Given the description of an element on the screen output the (x, y) to click on. 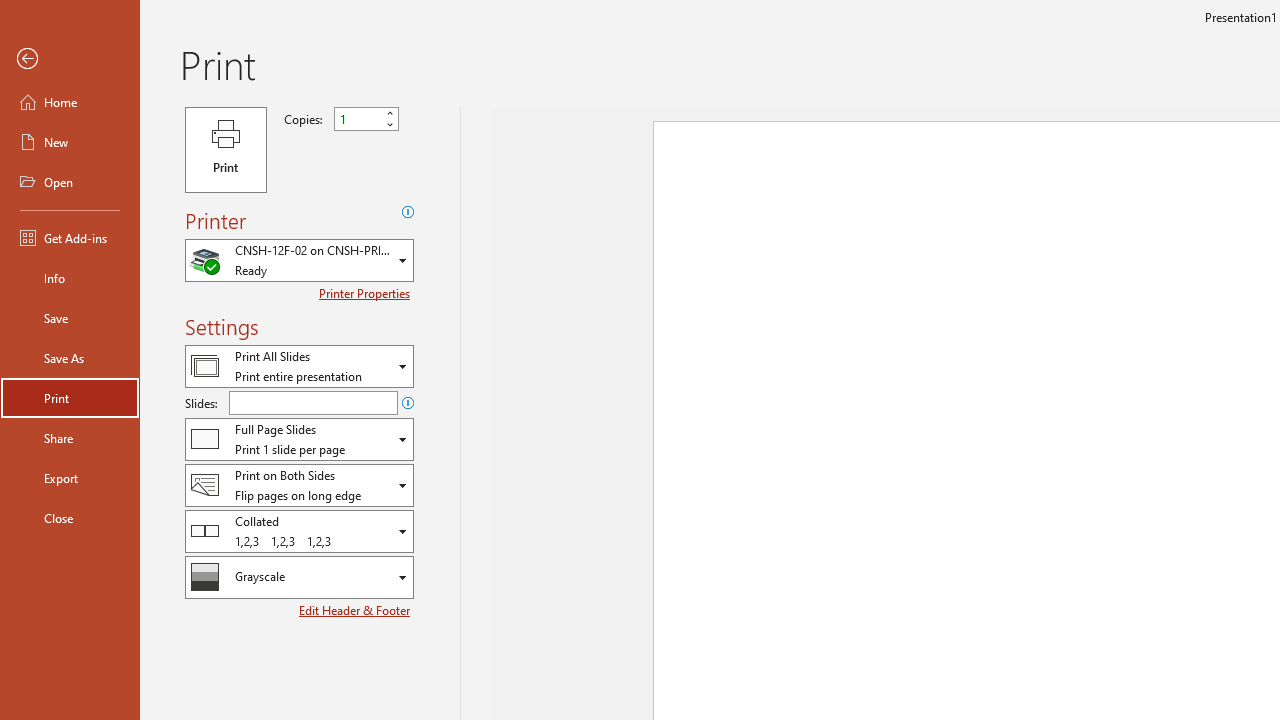
Collation (299, 530)
Export (69, 477)
Slides and Handouts (299, 439)
Edit Header & Footer (356, 610)
Print (69, 398)
Which Printer (299, 260)
Two-Sided Printing (299, 484)
Copies (366, 119)
Get Add-ins (69, 237)
Slides (313, 402)
Copies (358, 119)
